Given the description of an element on the screen output the (x, y) to click on. 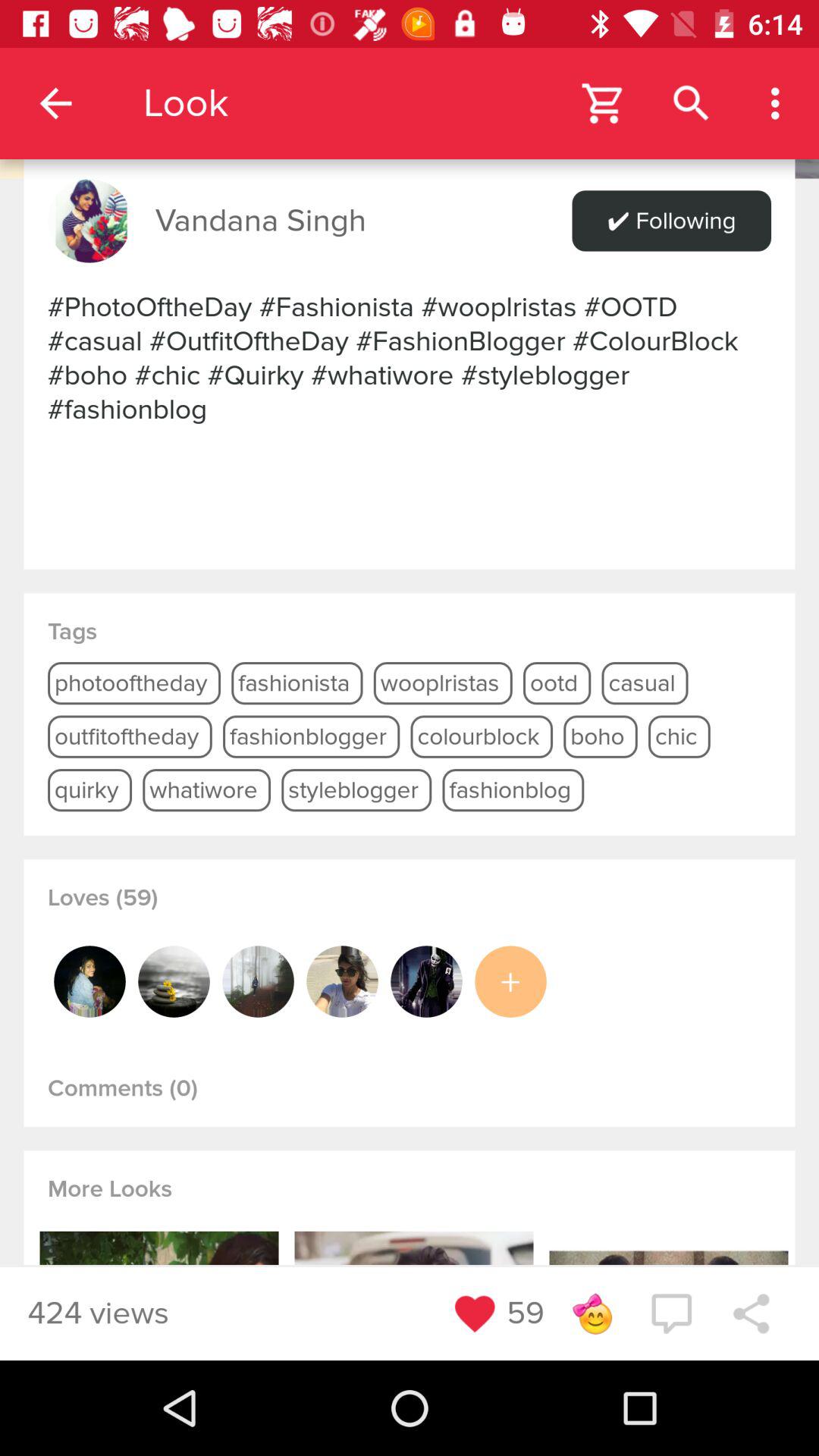
swipe to vandana singh item (260, 220)
